Given the description of an element on the screen output the (x, y) to click on. 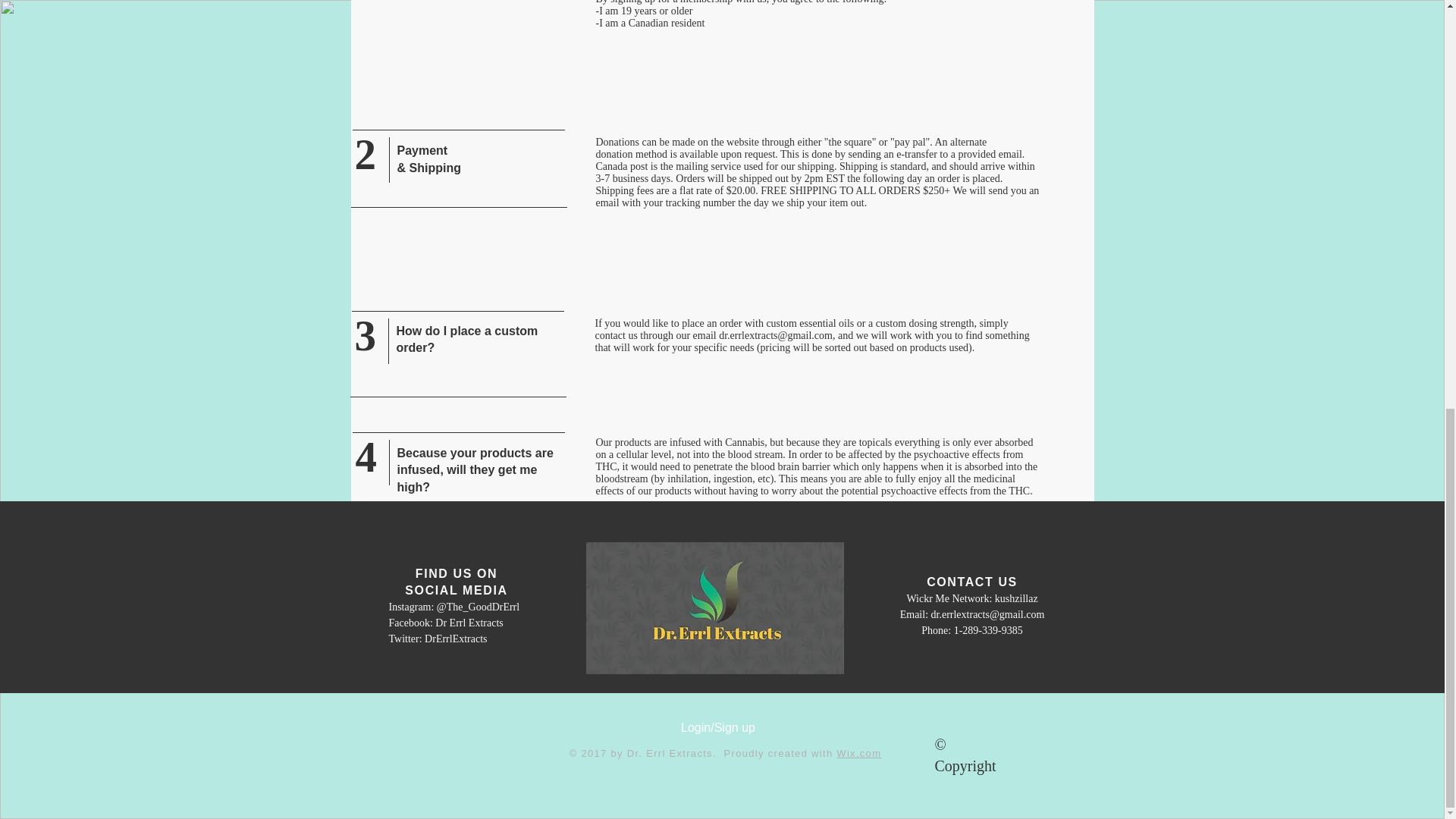
Wix.com (857, 753)
